Given the description of an element on the screen output the (x, y) to click on. 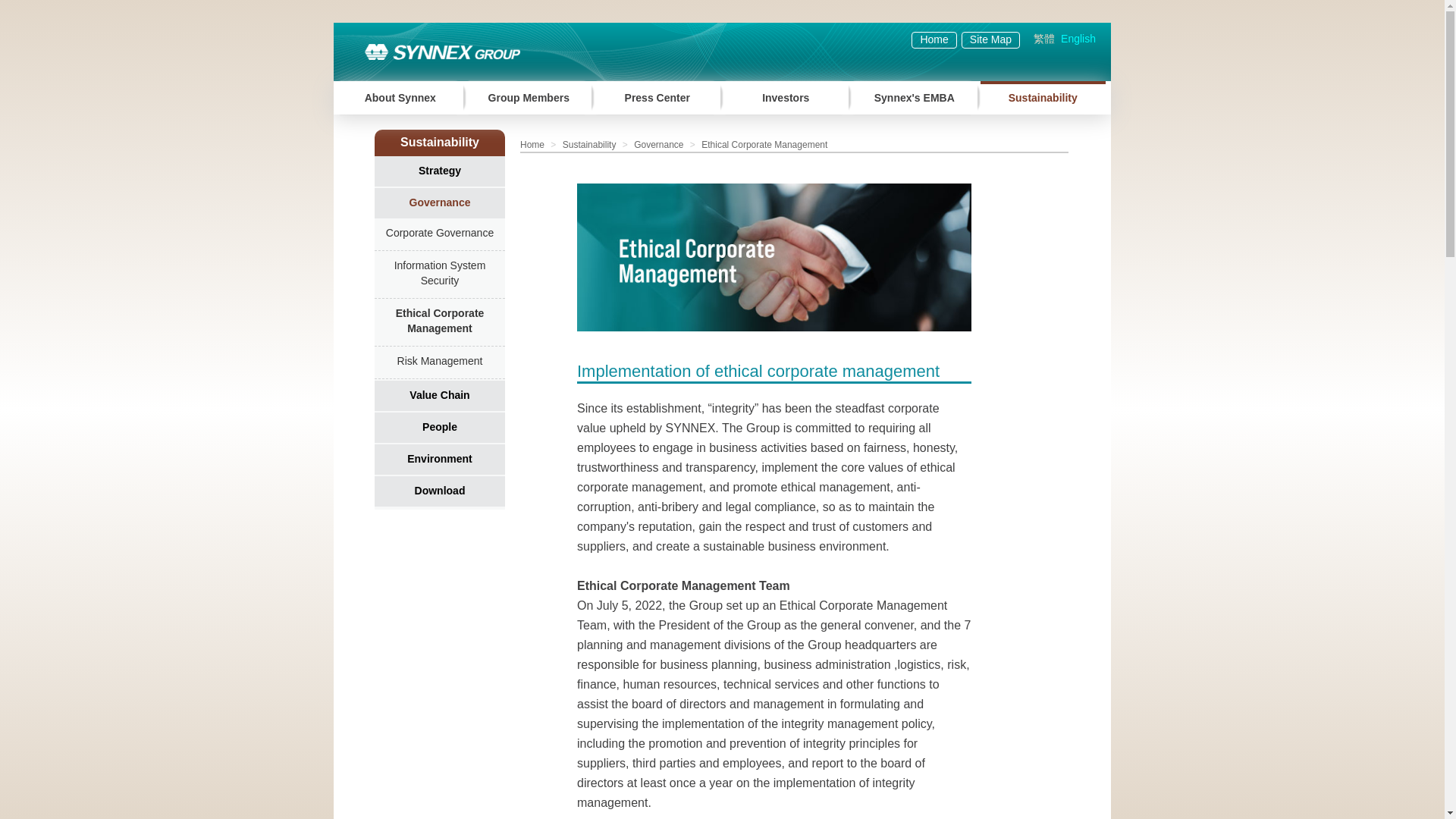
Site Map (990, 39)
Home (933, 39)
Press Center (657, 97)
Group Members (528, 97)
About Synnex (400, 97)
Synnex Group (436, 51)
English (1078, 38)
Investors (785, 97)
